Given the description of an element on the screen output the (x, y) to click on. 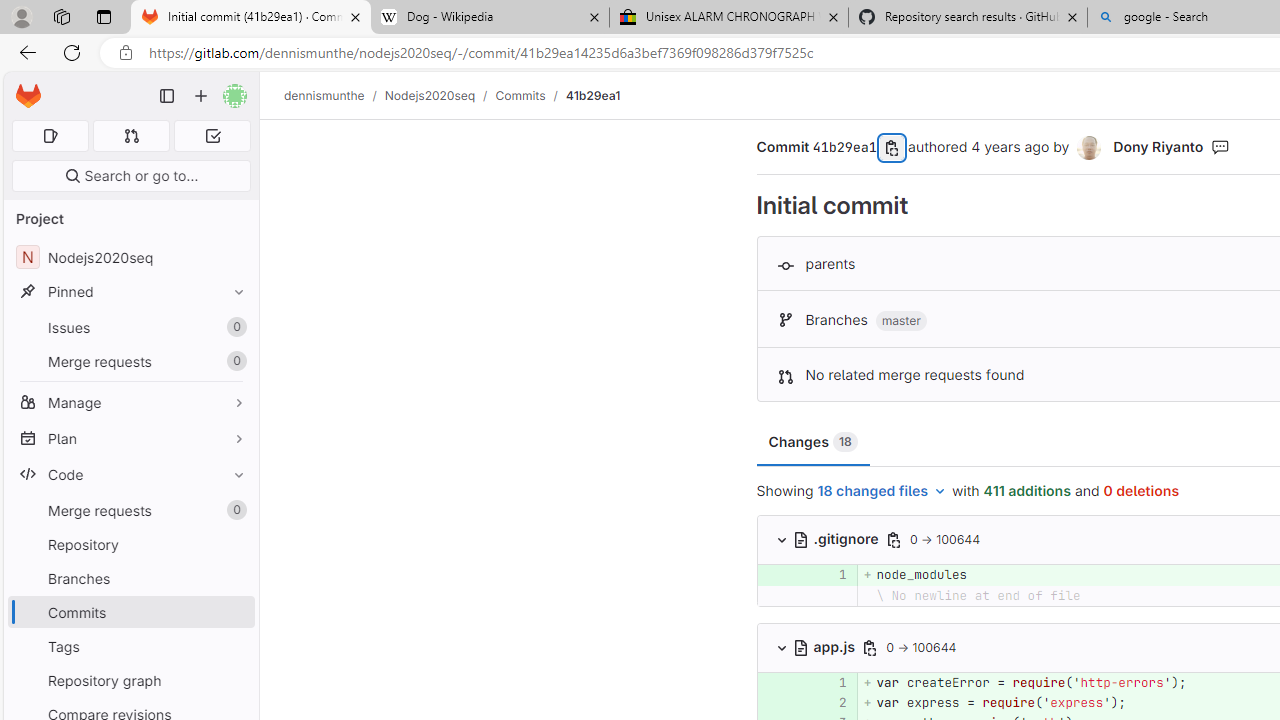
Issues 0 (130, 327)
Unpin Merge requests (234, 510)
Dog - Wikipedia (490, 17)
Dony Riyanto's avatar (1089, 148)
Plan (130, 438)
Merge requests 0 (131, 136)
1 (831, 681)
41b29ea1 (592, 95)
Pin Tags (234, 646)
Manage (130, 402)
Tags (130, 646)
Create new... (201, 96)
